Given the description of an element on the screen output the (x, y) to click on. 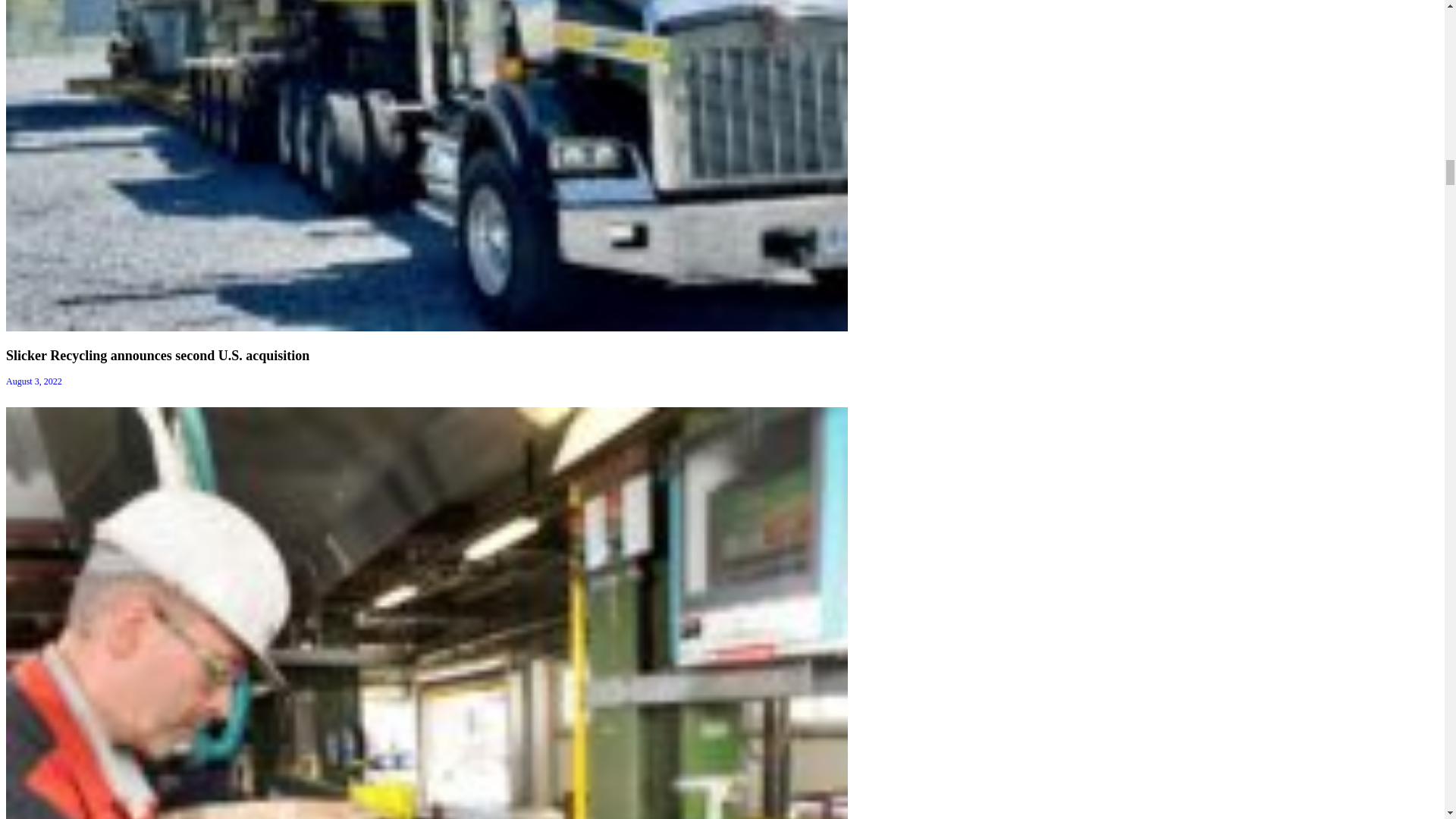
August 3, 2022 (33, 380)
Slicker Recycling announces second U.S. acquisition (156, 355)
